Given the description of an element on the screen output the (x, y) to click on. 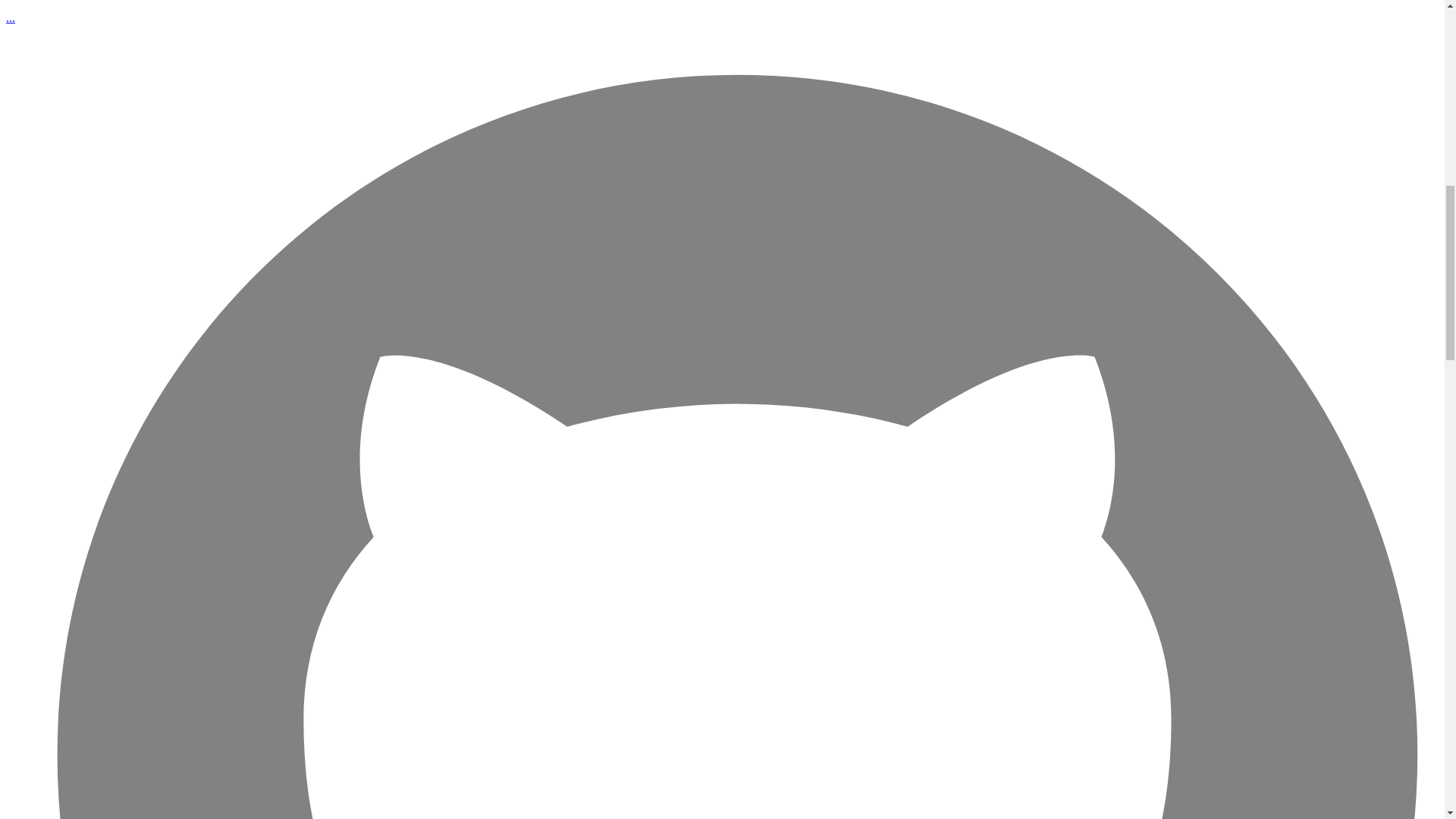
... (9, 17)
